Given the description of an element on the screen output the (x, y) to click on. 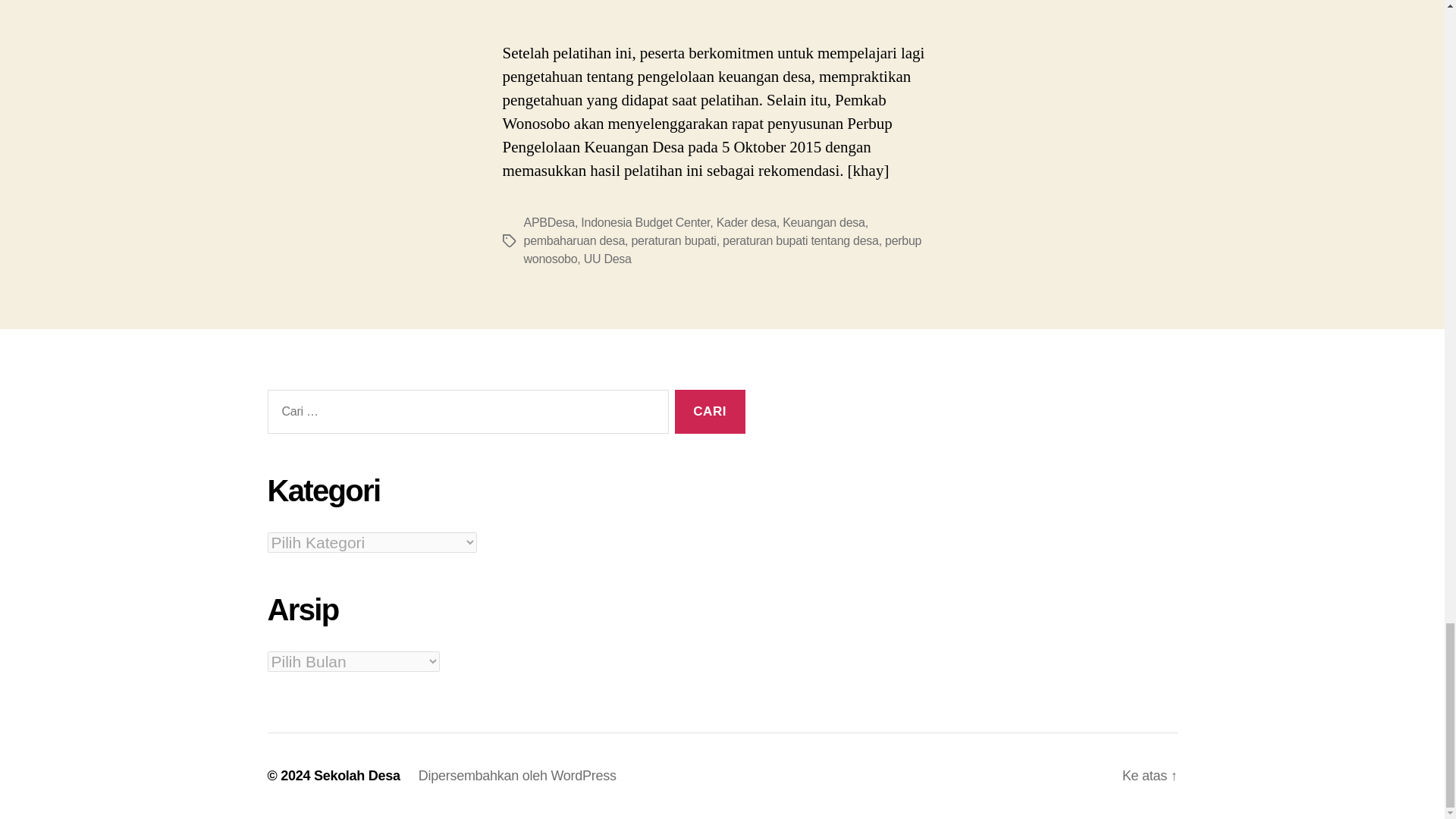
Cari (710, 411)
Cari (710, 411)
